Given the description of an element on the screen output the (x, y) to click on. 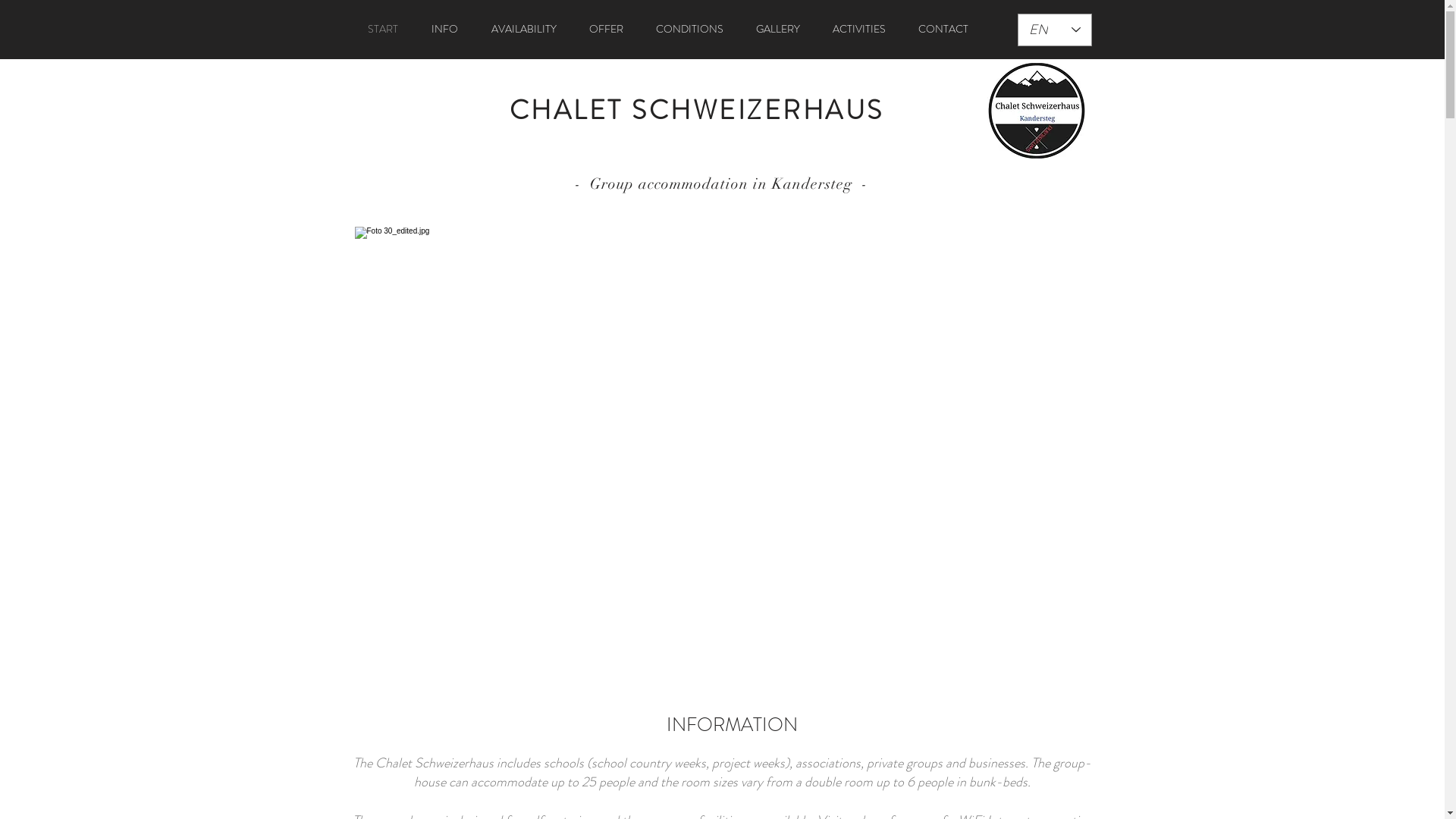
ACTIVITIES Element type: text (858, 28)
CONTACT Element type: text (943, 28)
OFFER Element type: text (606, 28)
CONDITIONS Element type: text (690, 28)
GALLERY Element type: text (778, 28)
INFO Element type: text (443, 28)
START Element type: text (382, 28)
AVAILABILITY Element type: text (523, 28)
